Given the description of an element on the screen output the (x, y) to click on. 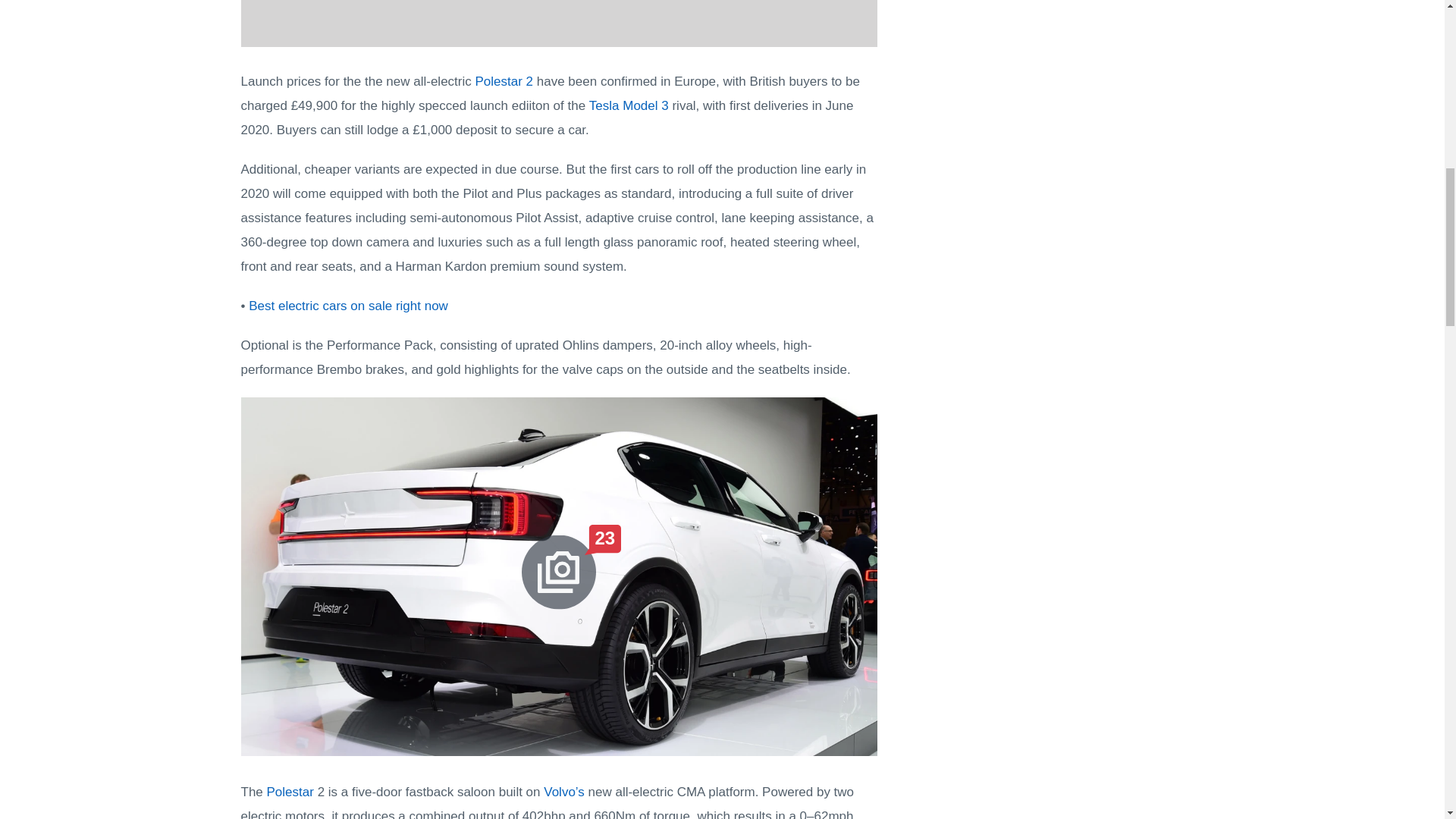
Best electric cars on sale right now (348, 305)
Polestar 2 (503, 81)
Tesla Model 3 (628, 105)
Polestar (290, 791)
